Given the description of an element on the screen output the (x, y) to click on. 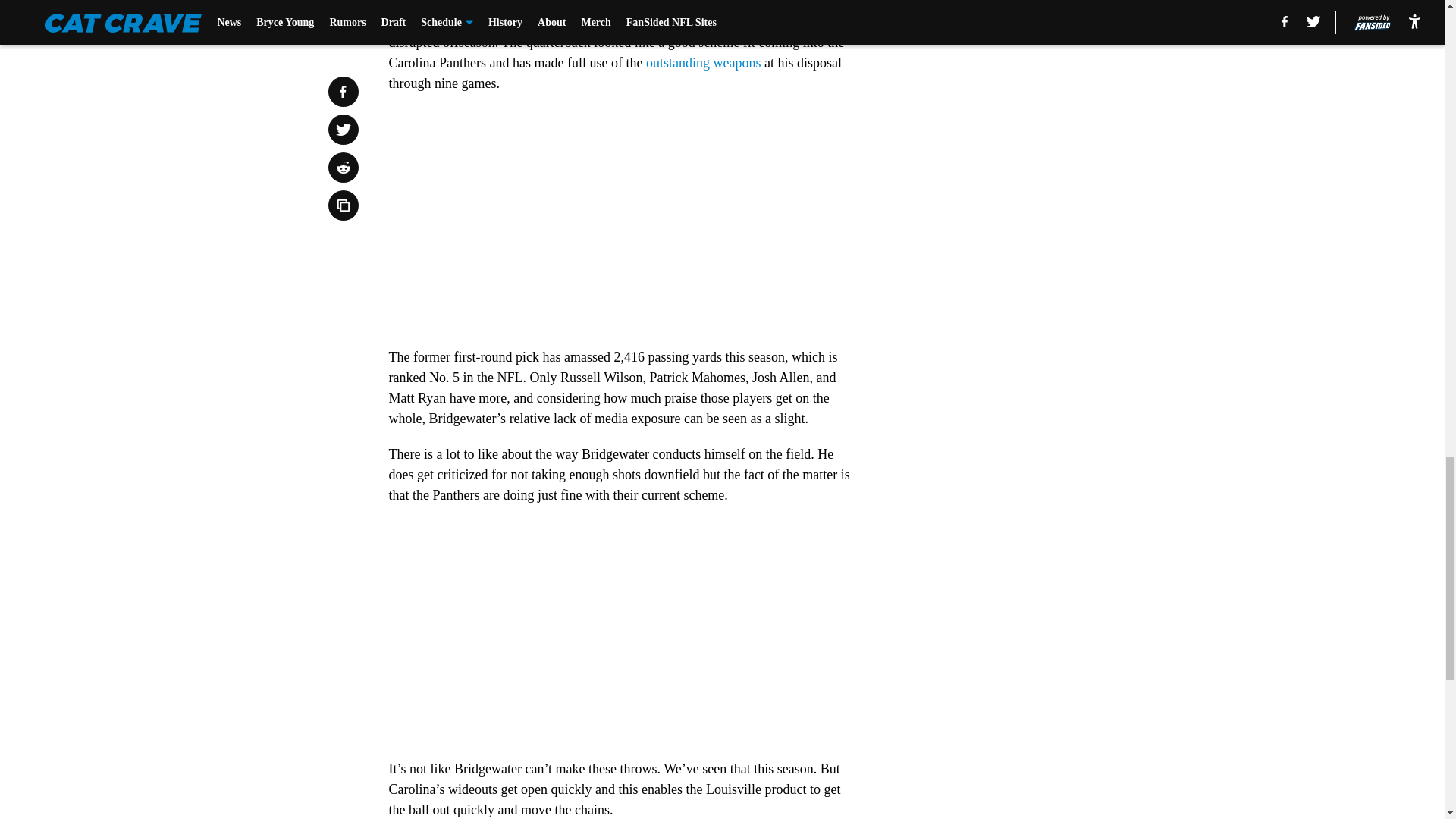
outstanding weapons (703, 62)
